Given the description of an element on the screen output the (x, y) to click on. 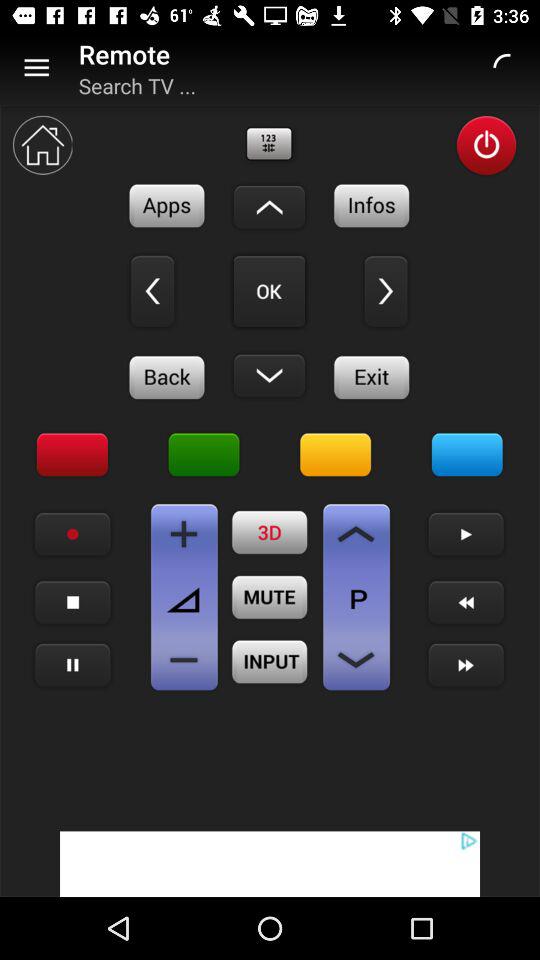
channel up button (356, 534)
